Given the description of an element on the screen output the (x, y) to click on. 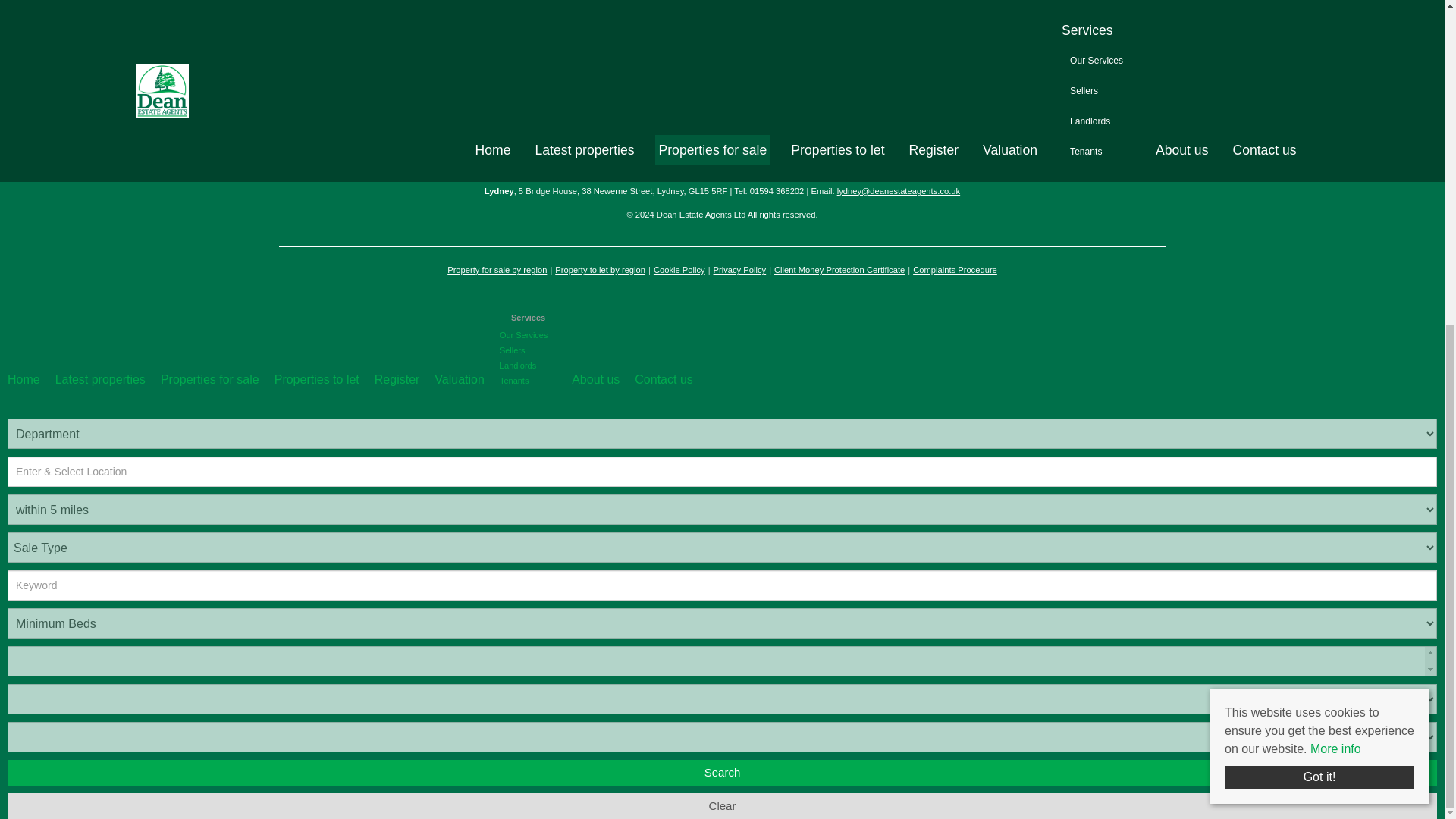
Privacy Policy (739, 269)
Client Money Protection Certificate (839, 269)
Property for sale by region (496, 269)
  Try our Property Draw Search (1277, 8)
Property to let by region (599, 269)
Cookie Policy (679, 269)
